Given the description of an element on the screen output the (x, y) to click on. 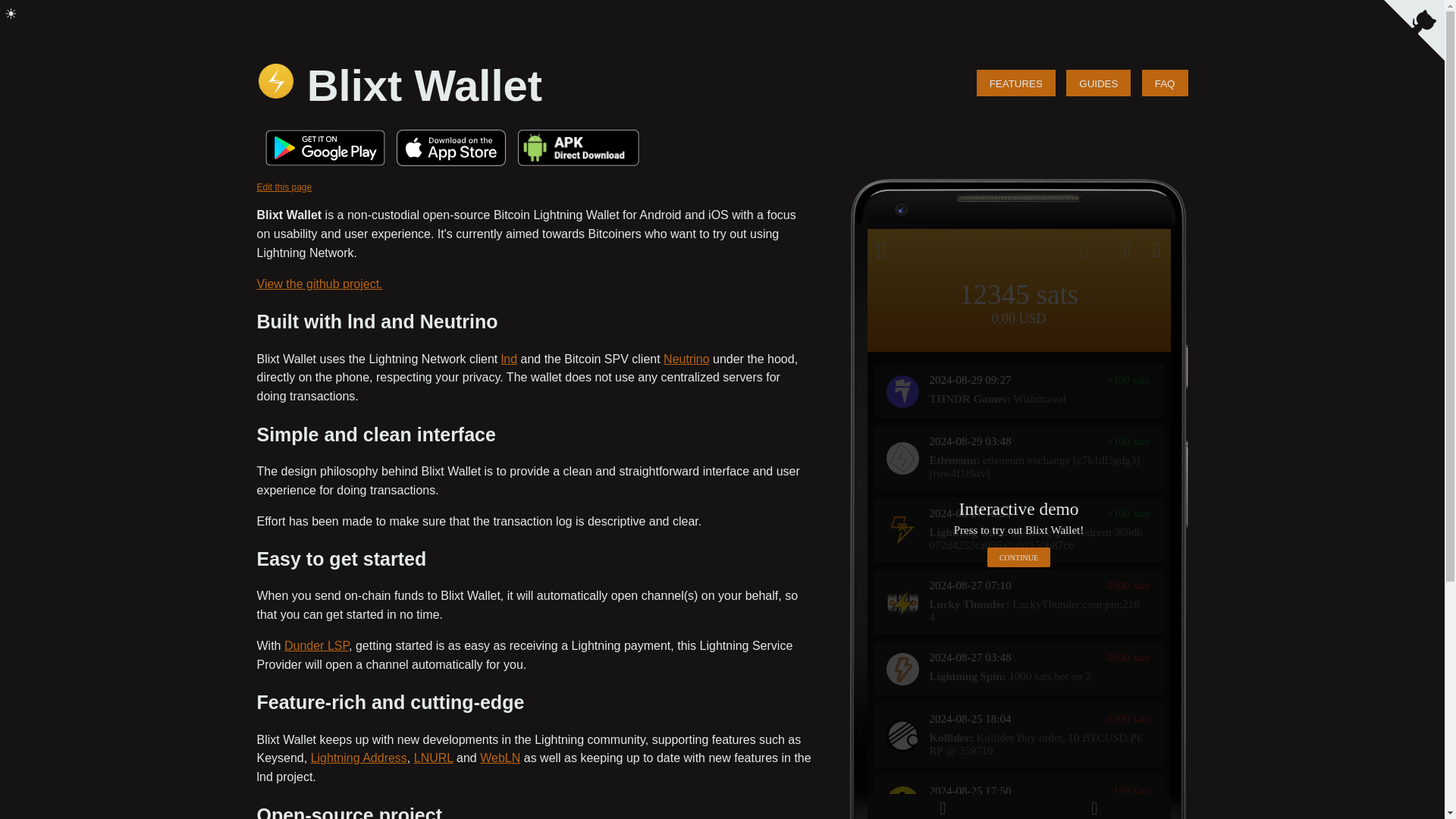
FAQ (1164, 82)
WebLN (499, 757)
Neutrino (686, 358)
LNURL (432, 757)
Dunder LSP (316, 645)
View the github project. (318, 283)
Edit this page (283, 186)
lnd (508, 358)
FEATURES (1015, 82)
Lightning Address (359, 757)
